Given the description of an element on the screen output the (x, y) to click on. 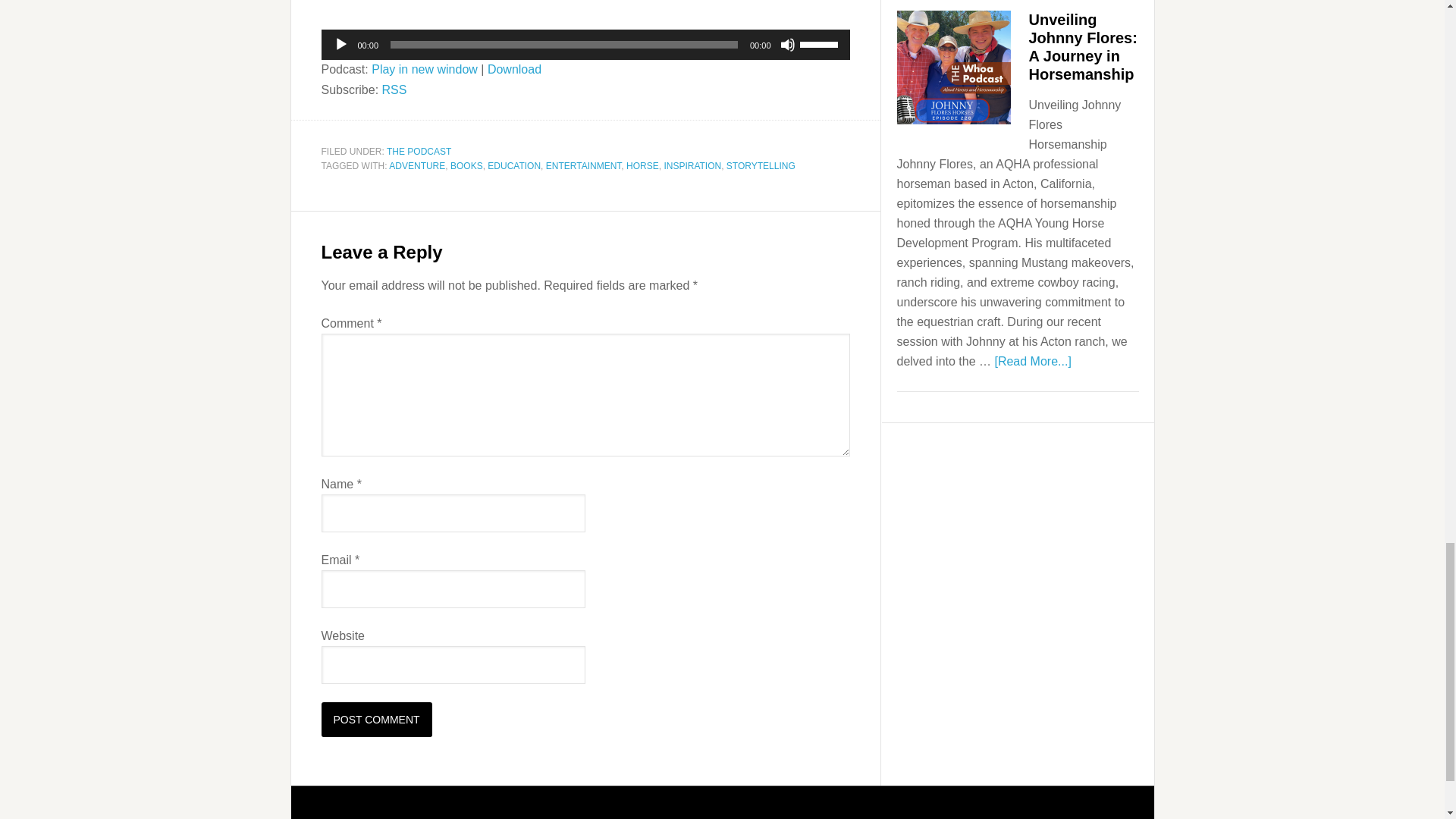
Play (341, 44)
Post Comment (376, 719)
INSPIRATION (691, 165)
RSS (394, 89)
HORSE (642, 165)
EDUCATION (513, 165)
STORYTELLING (760, 165)
Mute (786, 44)
Post Comment (376, 719)
Download (514, 69)
